Given the description of an element on the screen output the (x, y) to click on. 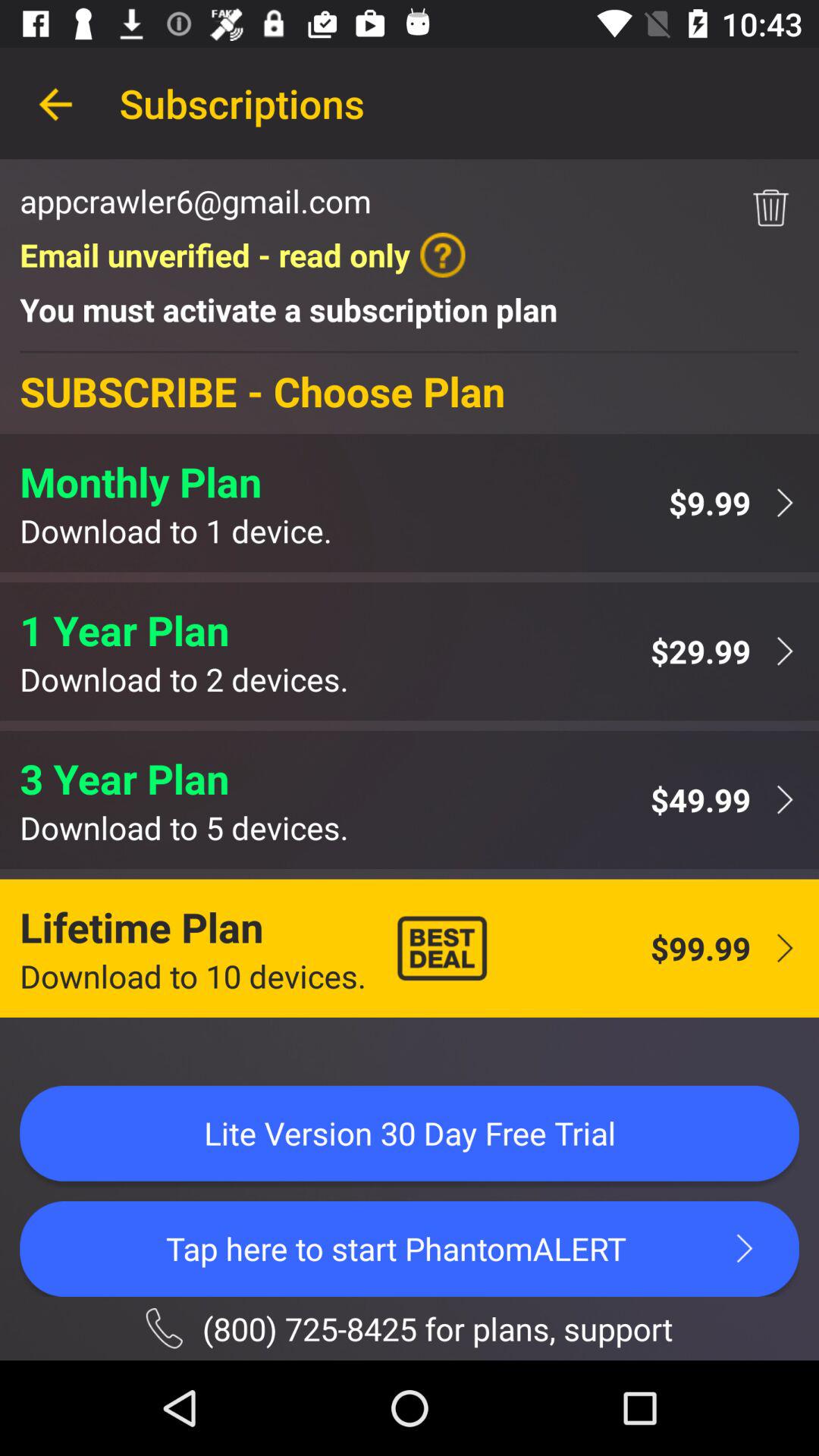
scroll until the tap here to icon (409, 1248)
